Given the description of an element on the screen output the (x, y) to click on. 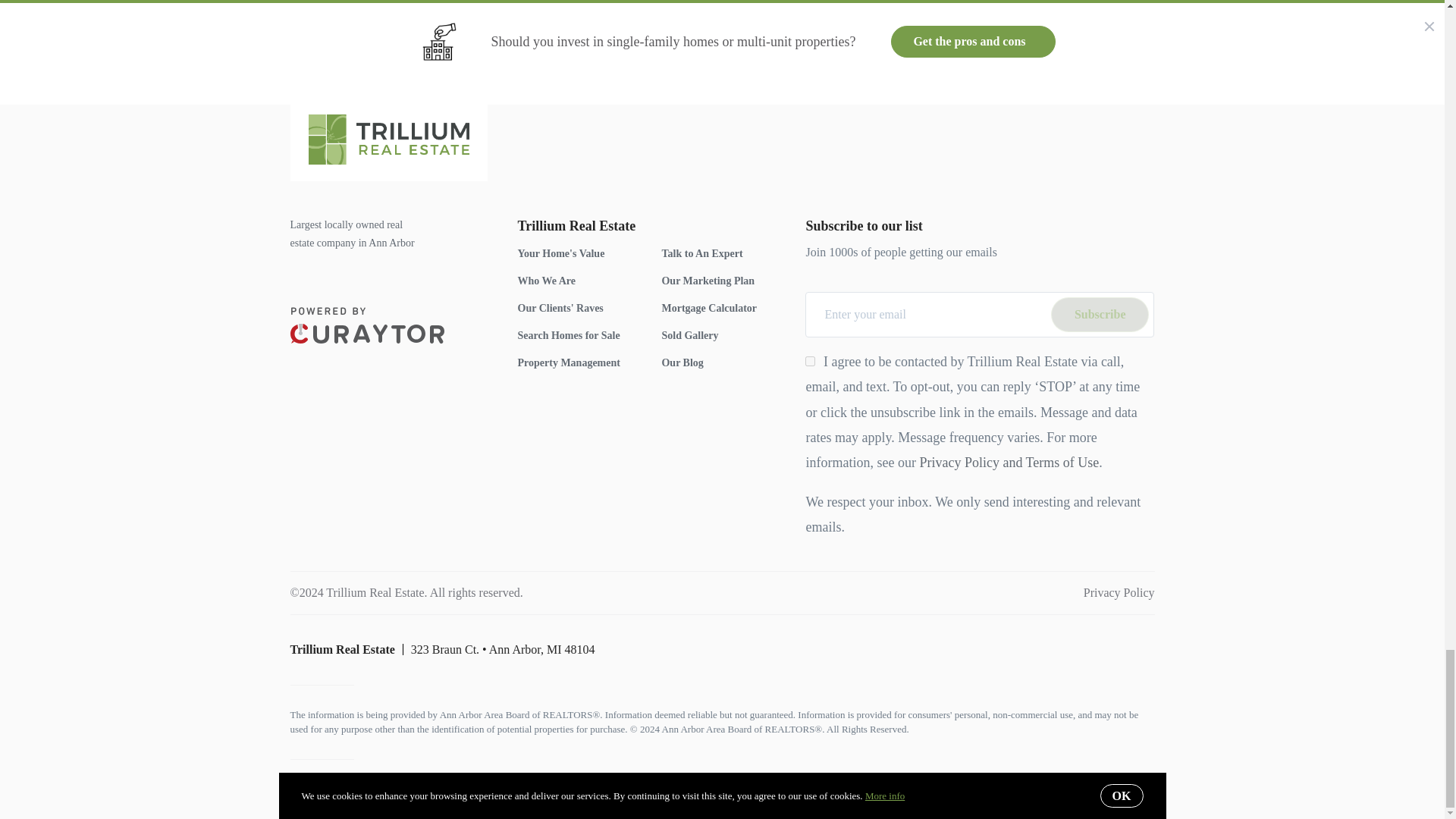
curaytor-horizontal (366, 325)
on (810, 361)
